Given the description of an element on the screen output the (x, y) to click on. 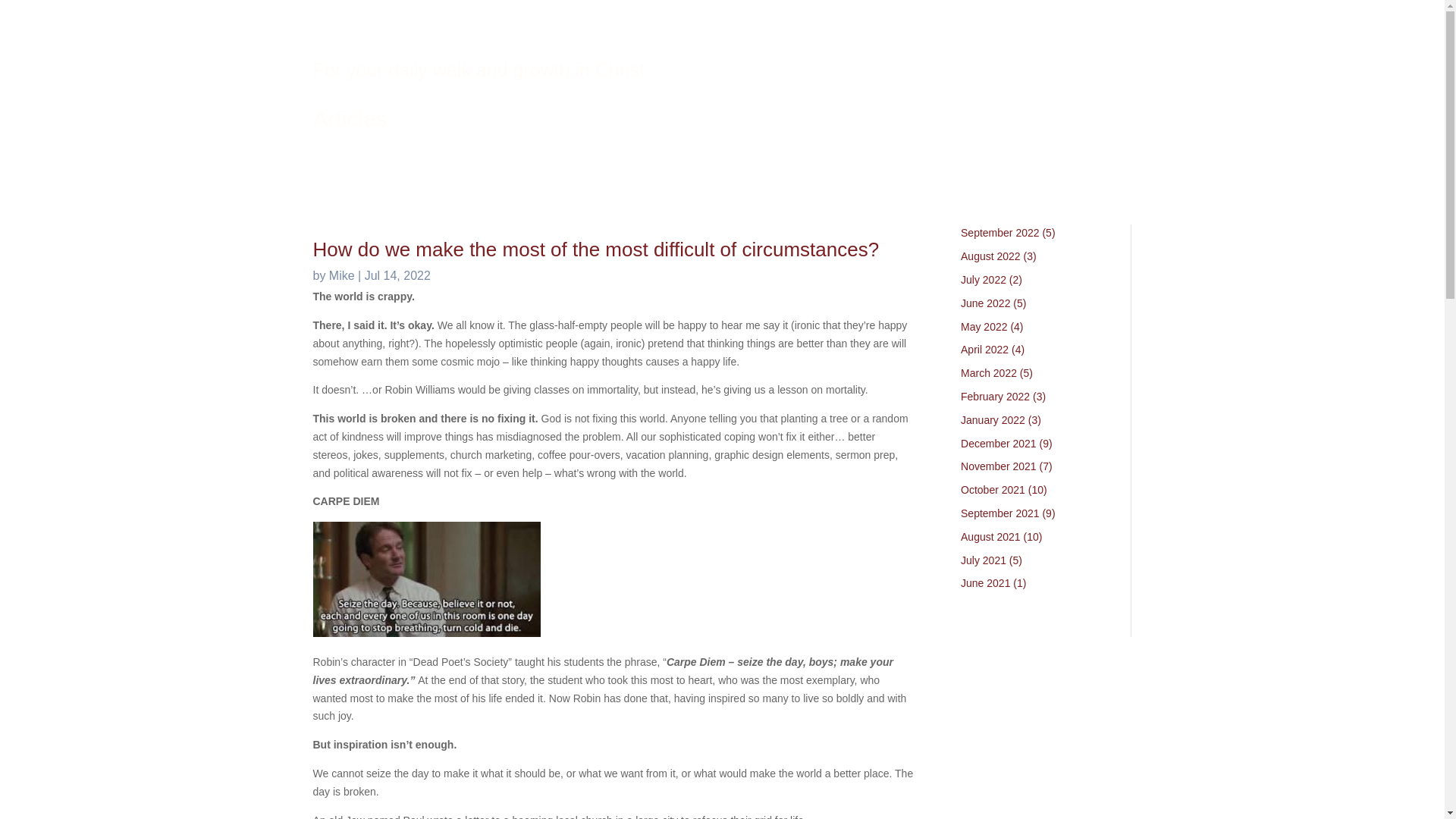
November 2021 (998, 466)
January 2022 (992, 419)
Mike (342, 275)
May 2022 (983, 326)
Donate (896, 51)
June 2022 (985, 303)
Posts by Mike (342, 275)
September 2022 (999, 232)
August 2022 (990, 256)
March 2022 (988, 372)
Contact (833, 51)
February 2022 (994, 396)
August 2021 (990, 536)
Resources (702, 51)
December 2021 (998, 443)
